Given the description of an element on the screen output the (x, y) to click on. 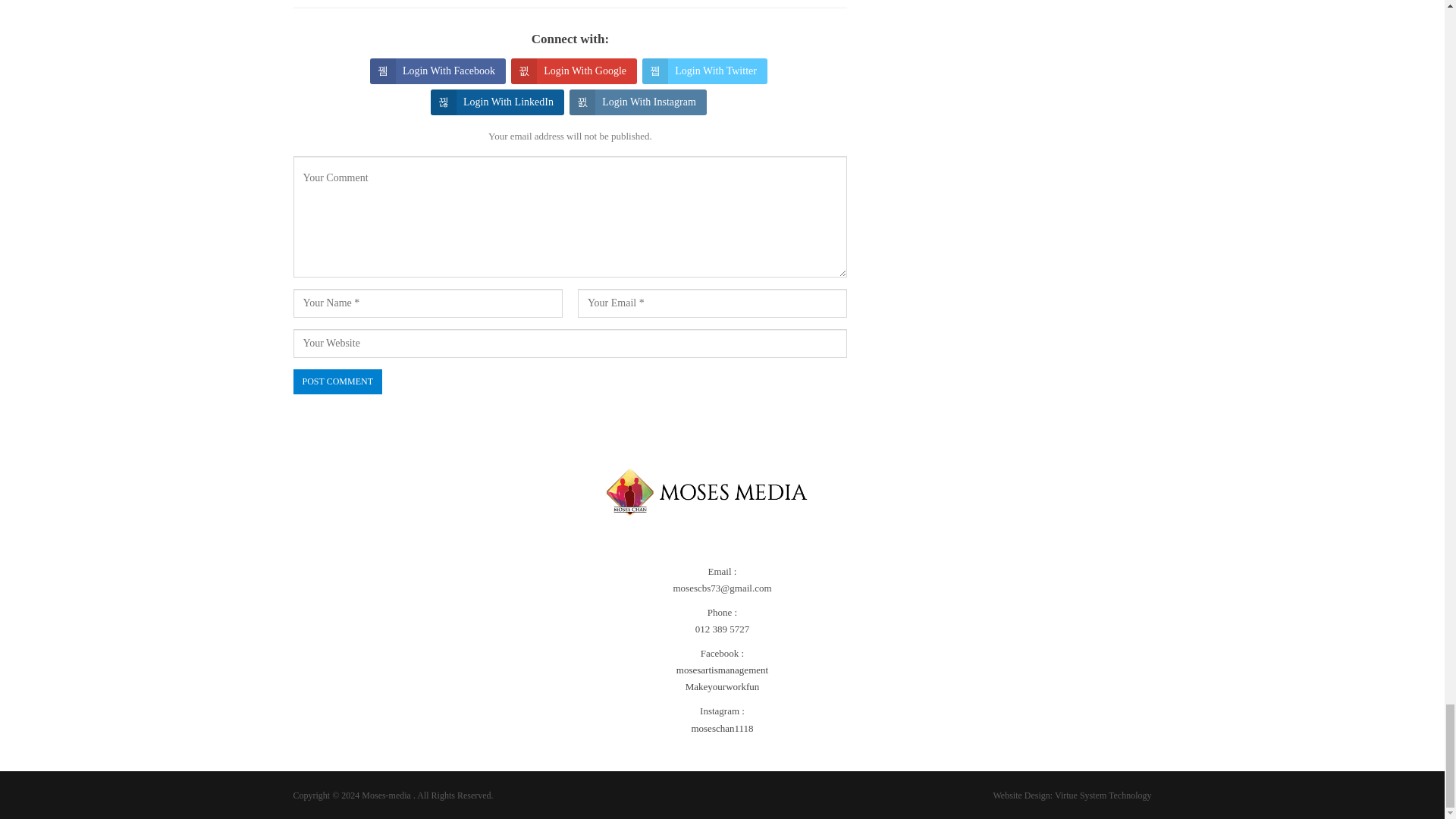
Post Comment (336, 381)
